Given the description of an element on the screen output the (x, y) to click on. 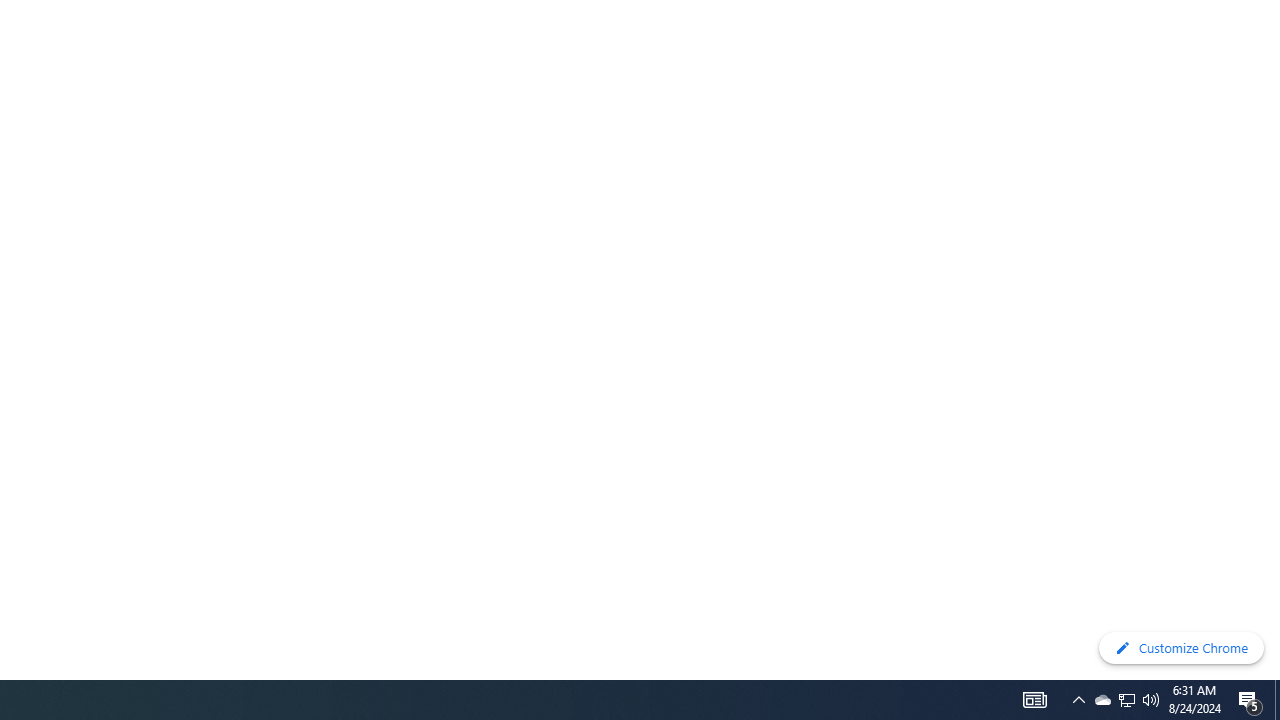
Customize Chrome (1181, 647)
